Given the description of an element on the screen output the (x, y) to click on. 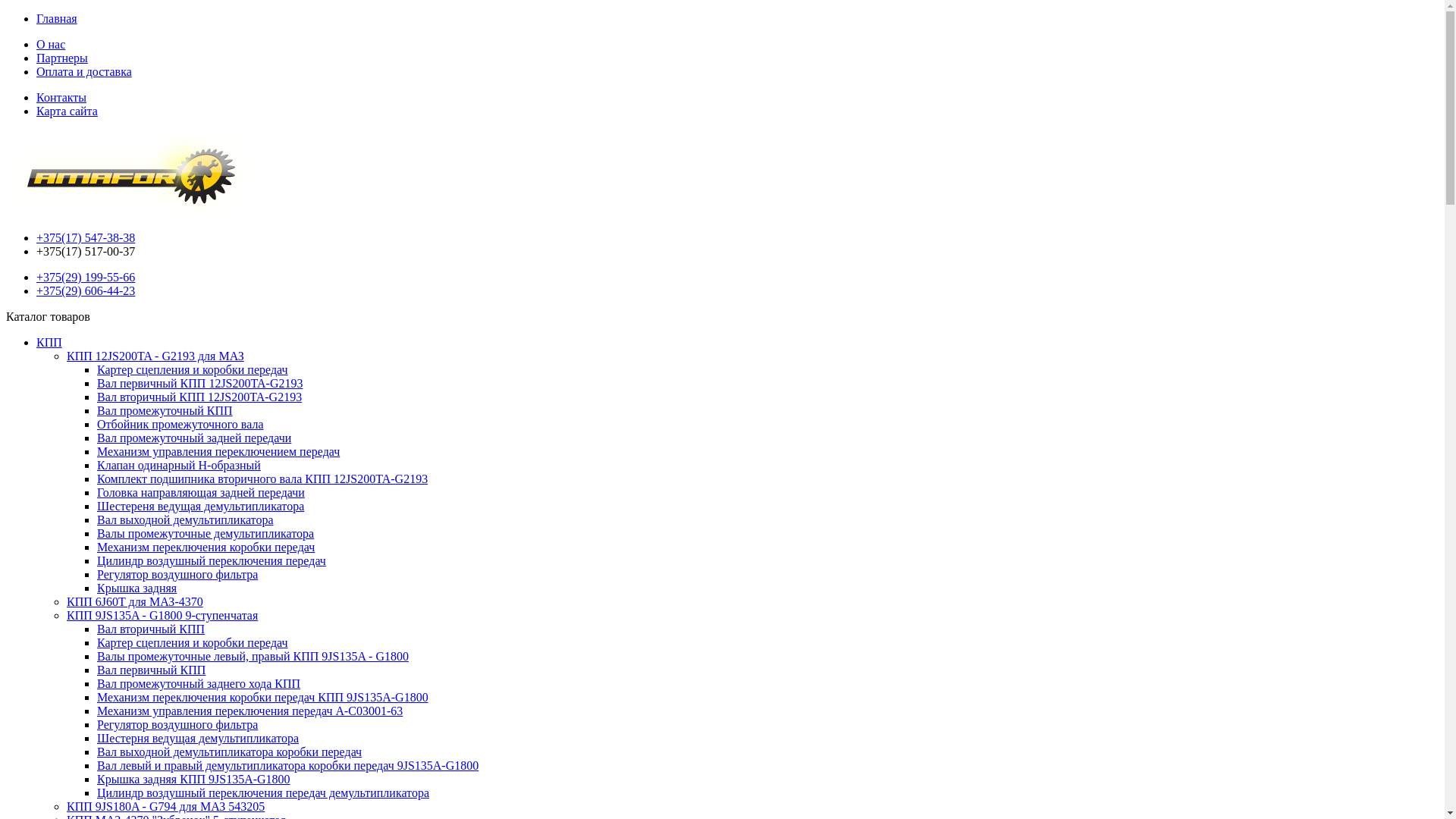
+375(29) 199-55-66 Element type: text (85, 276)
+375(17) 547-38-38 Element type: text (85, 237)
+375(29) 606-44-23 Element type: text (85, 290)
